Given the description of an element on the screen output the (x, y) to click on. 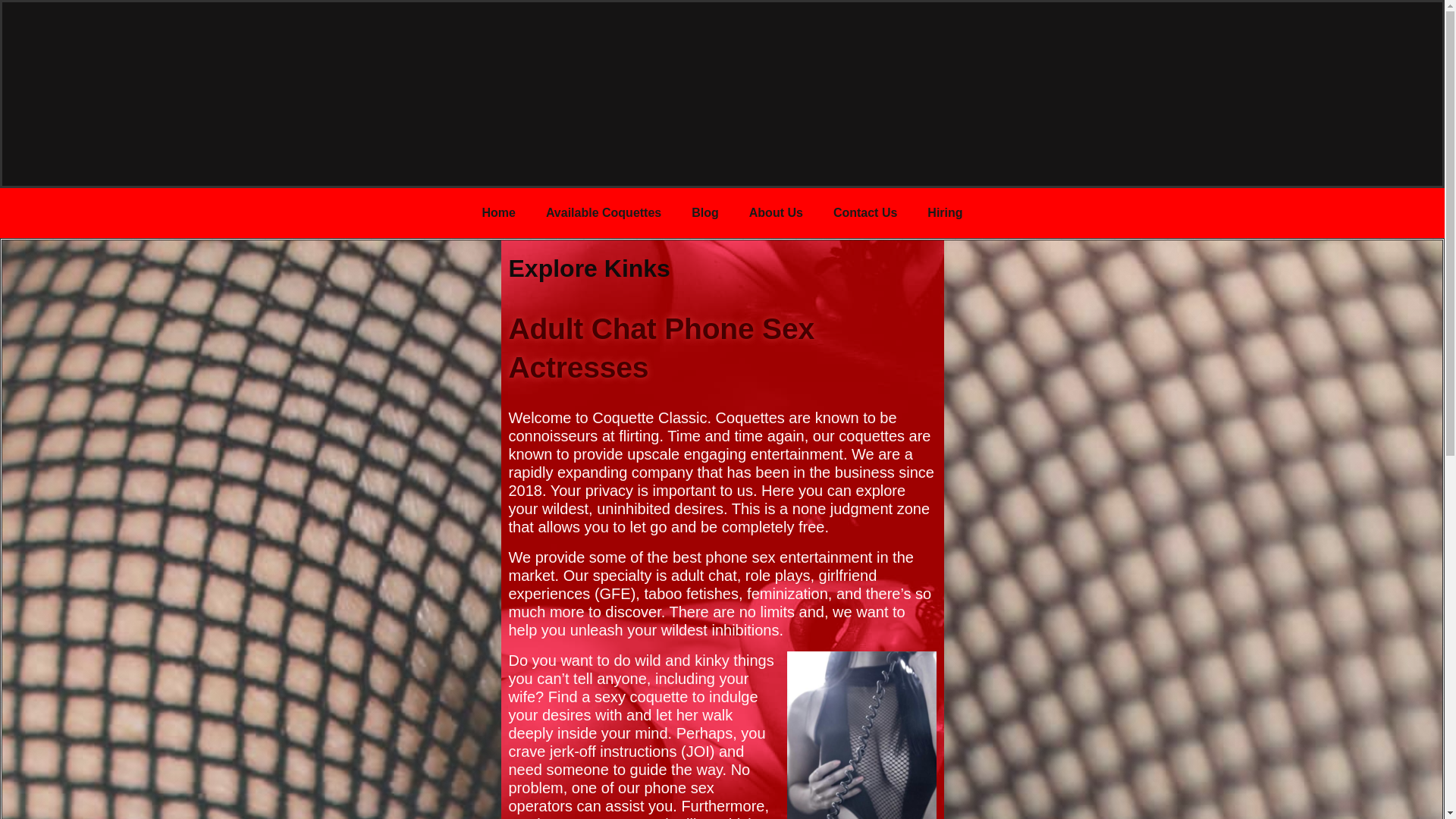
Contact Us (865, 212)
Home (497, 212)
Hiring (944, 212)
Blog (705, 212)
Available Coquettes (604, 212)
About Us (775, 212)
